Given the description of an element on the screen output the (x, y) to click on. 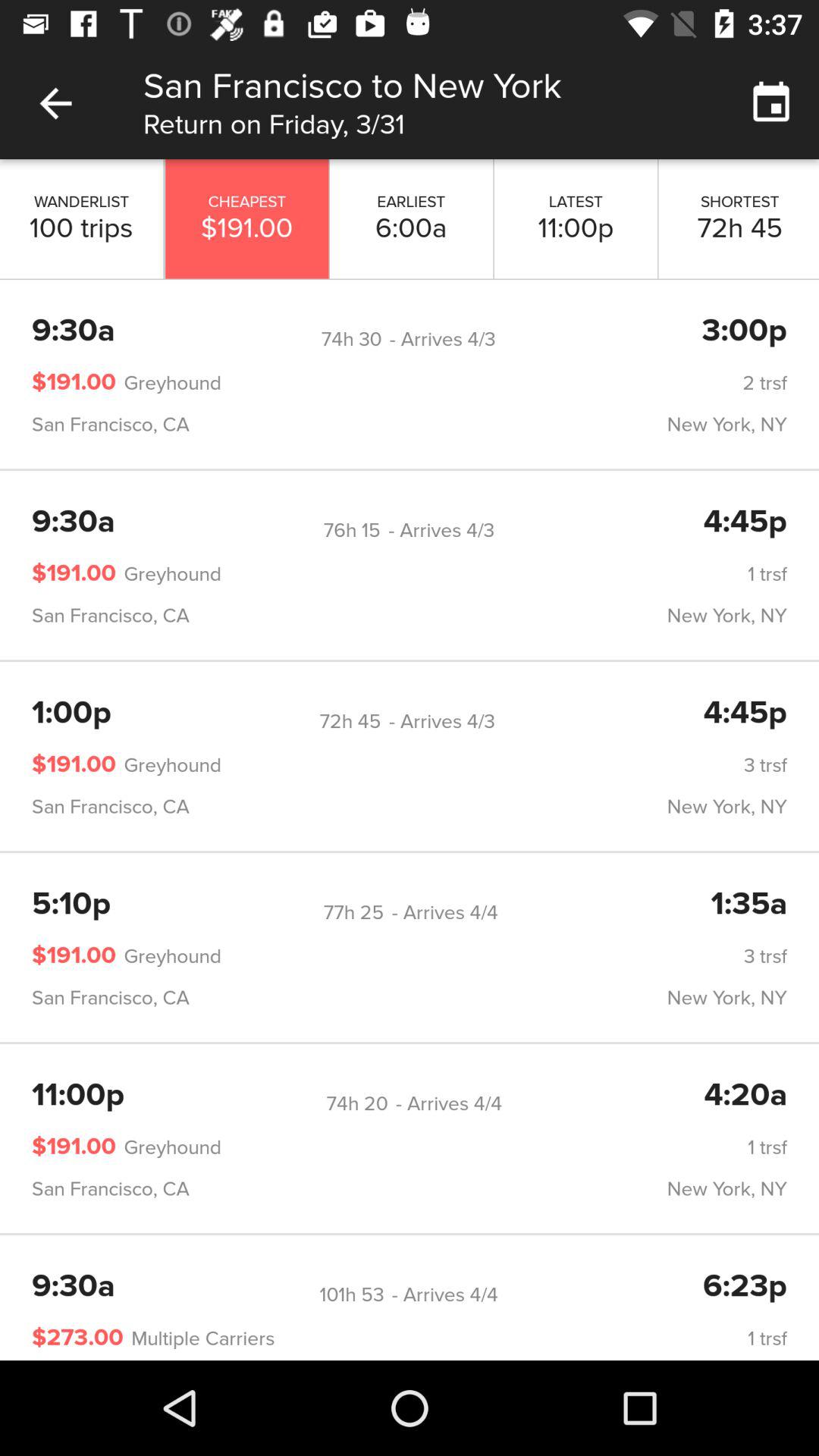
choose item above san francisco, ca icon (504, 383)
